Given the description of an element on the screen output the (x, y) to click on. 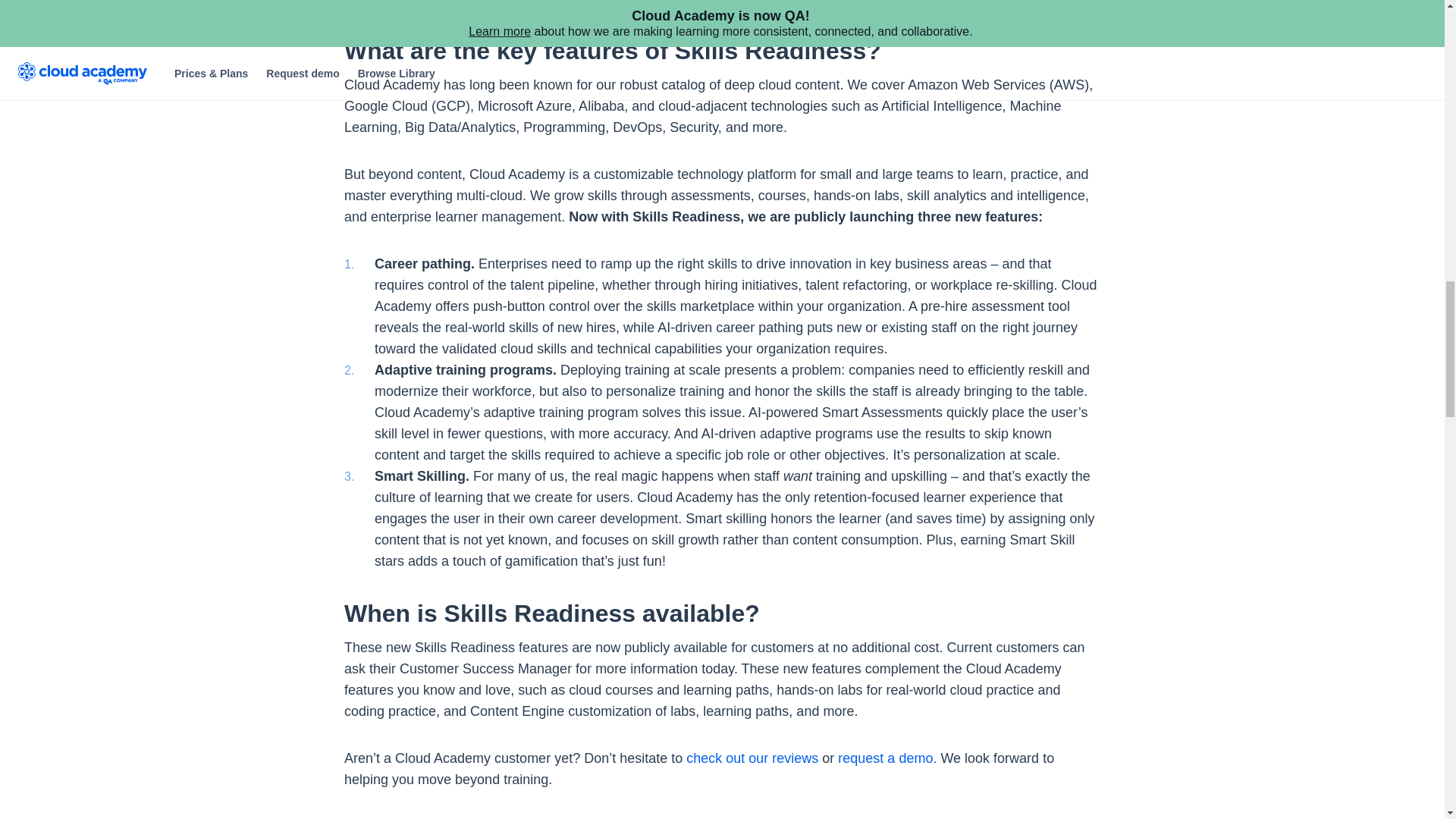
request a demo. (887, 758)
check out our reviews (751, 758)
